Given the description of an element on the screen output the (x, y) to click on. 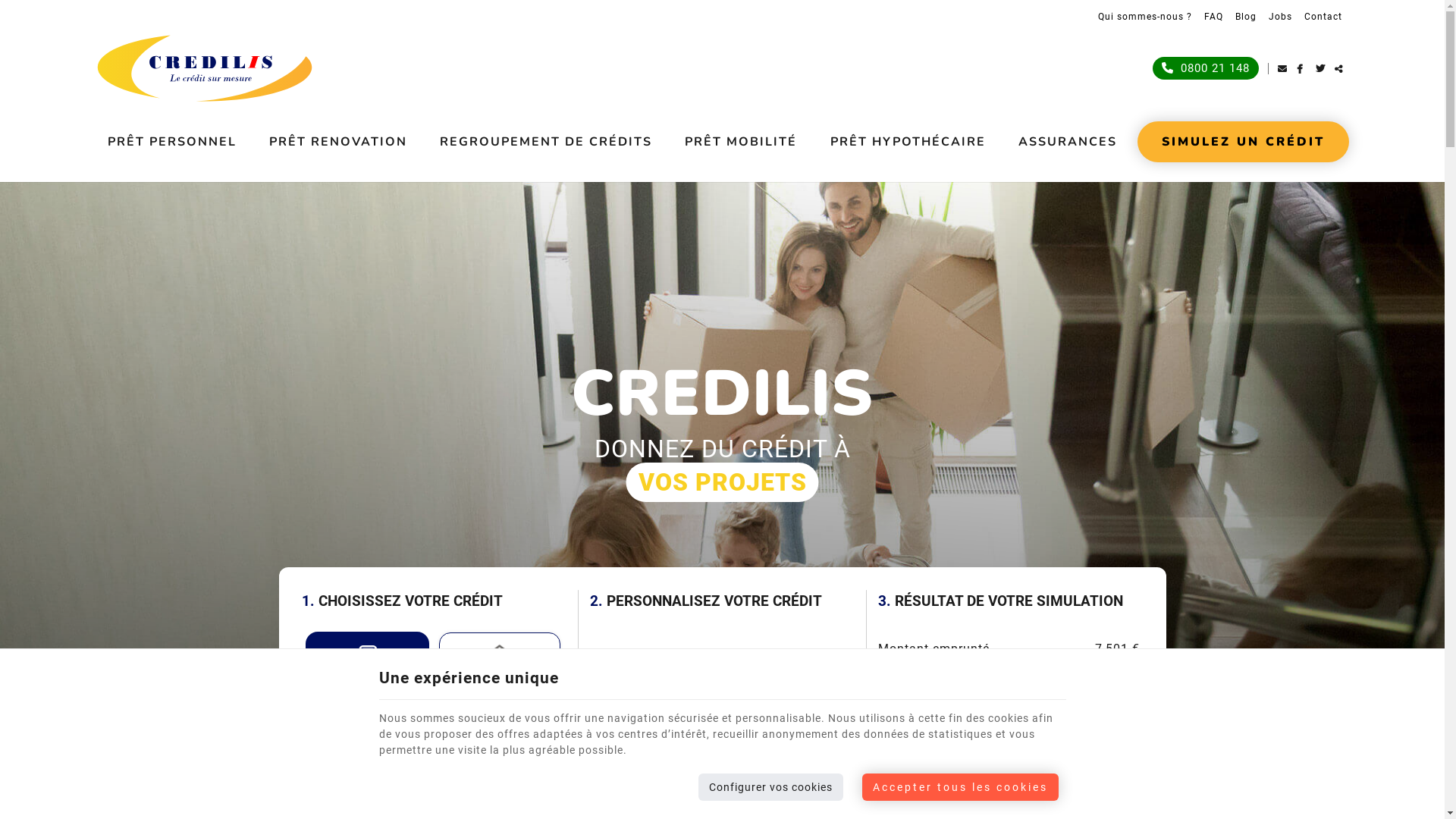
Partager ce contenu Element type: text (1343, 68)
+ Element type: text (834, 694)
Configurer vos cookies Element type: text (770, 786)
Blog Element type: text (1245, 16)
Qui sommes-nous ? Element type: text (1145, 16)
Credilis Element type: hover (204, 68)
Accepter tous les cookies Element type: text (960, 786)
Contact Element type: text (1323, 16)
0800 21 148 Element type: text (1205, 67)
Jobs Element type: text (1280, 16)
ASSURANCES Element type: text (1067, 141)
FAQ Element type: text (1213, 16)
